Given the description of an element on the screen output the (x, y) to click on. 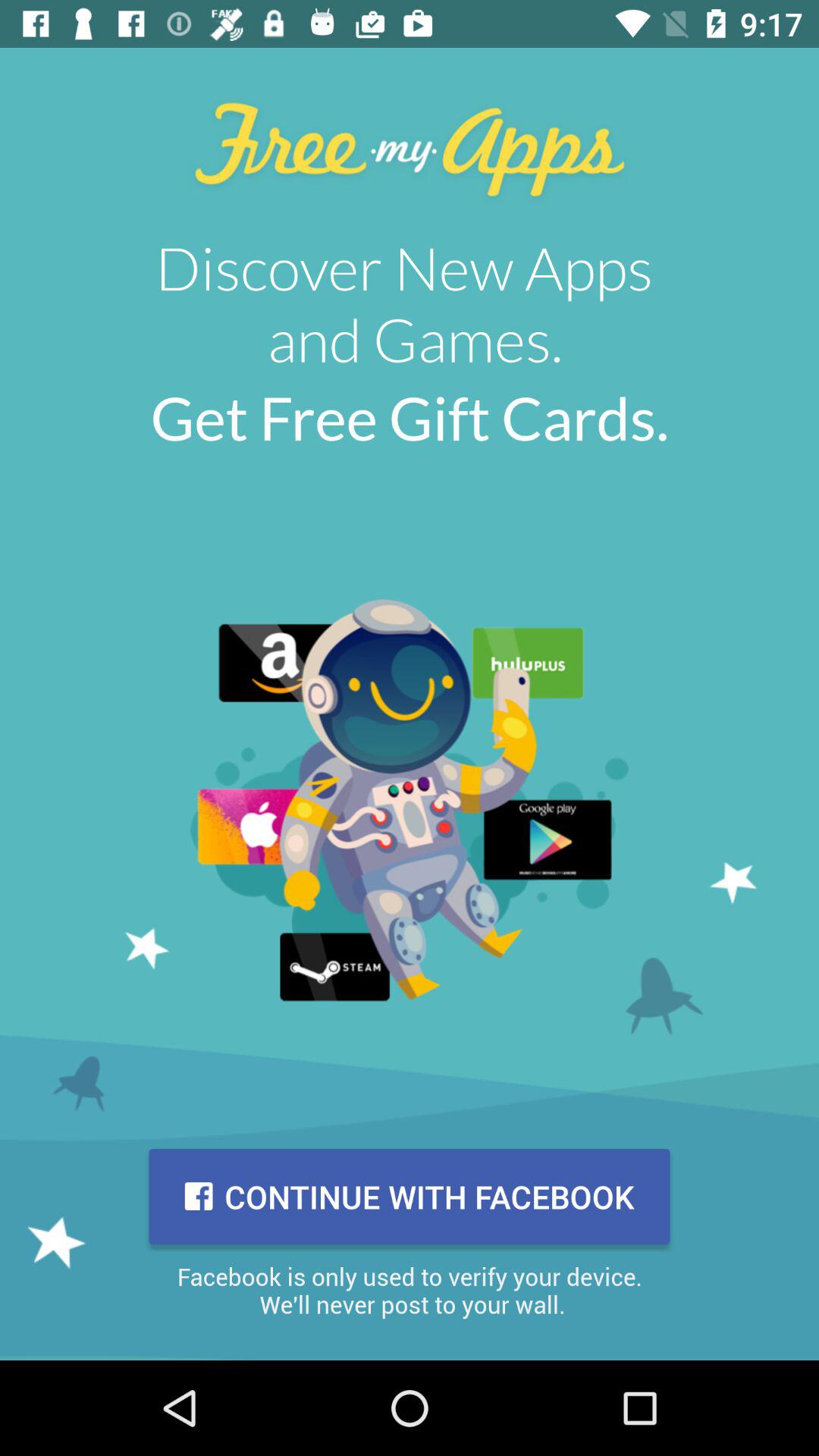
scroll to the continue with facebook item (409, 1196)
